Given the description of an element on the screen output the (x, y) to click on. 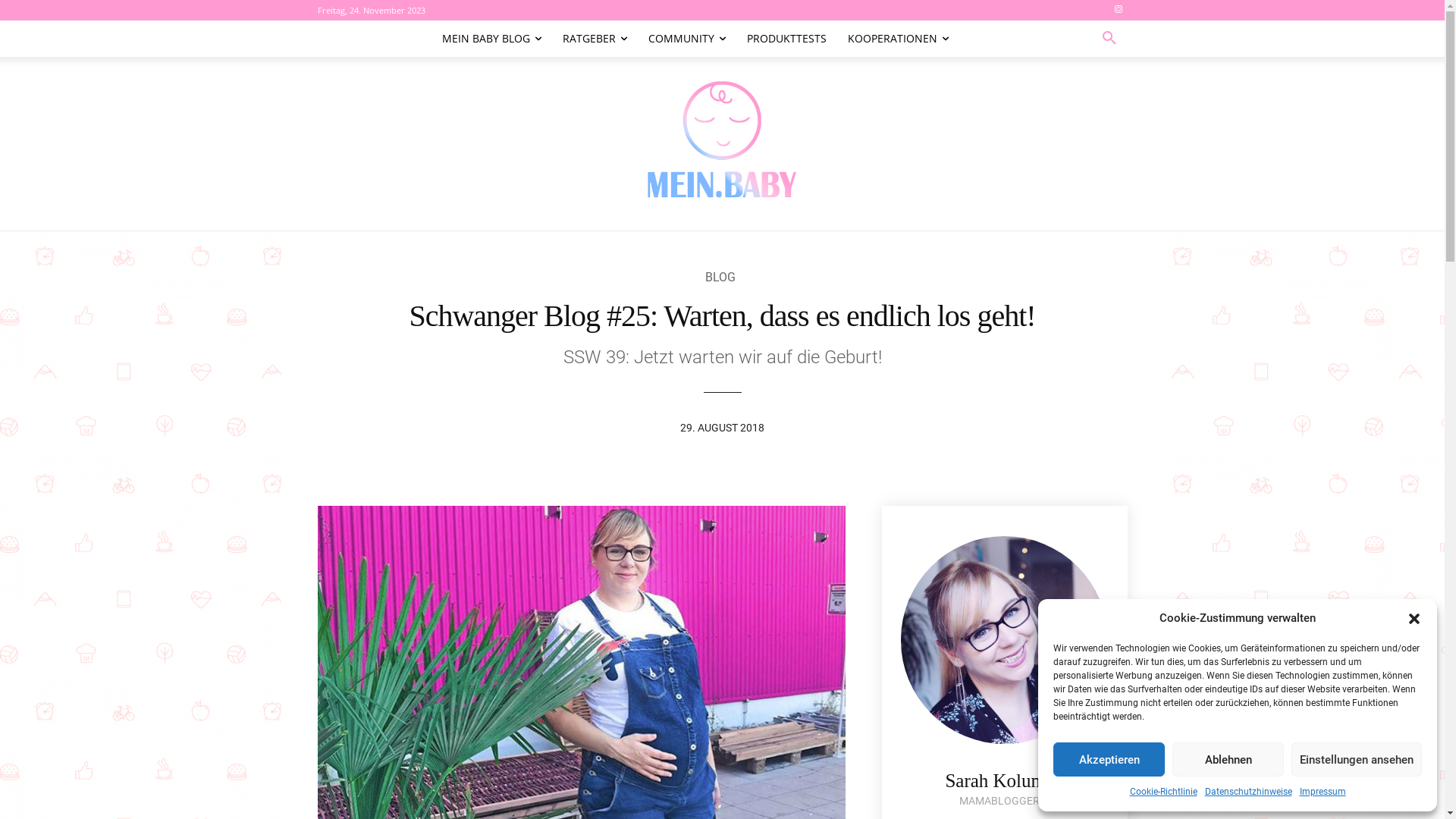
MEIN BABY BLOG Element type: text (490, 38)
RATGEBER Element type: text (594, 38)
Einstellungen ansehen Element type: text (1356, 759)
COMMUNITY Element type: text (686, 38)
KOOPERATIONEN Element type: text (898, 38)
Sarah Kolumna Element type: text (1003, 780)
Cookie-Richtlinie Element type: text (1163, 792)
Logo Element type: hover (721, 136)
Datenschutzhinweise Element type: text (1247, 792)
Ablehnen Element type: text (1227, 759)
Impressum Element type: text (1322, 792)
Instagram Element type: hover (1118, 9)
PRODUKTTESTS Element type: text (785, 38)
Akzeptieren Element type: text (1108, 759)
BLOG Element type: text (720, 277)
Logo Element type: hover (721, 136)
